Given the description of an element on the screen output the (x, y) to click on. 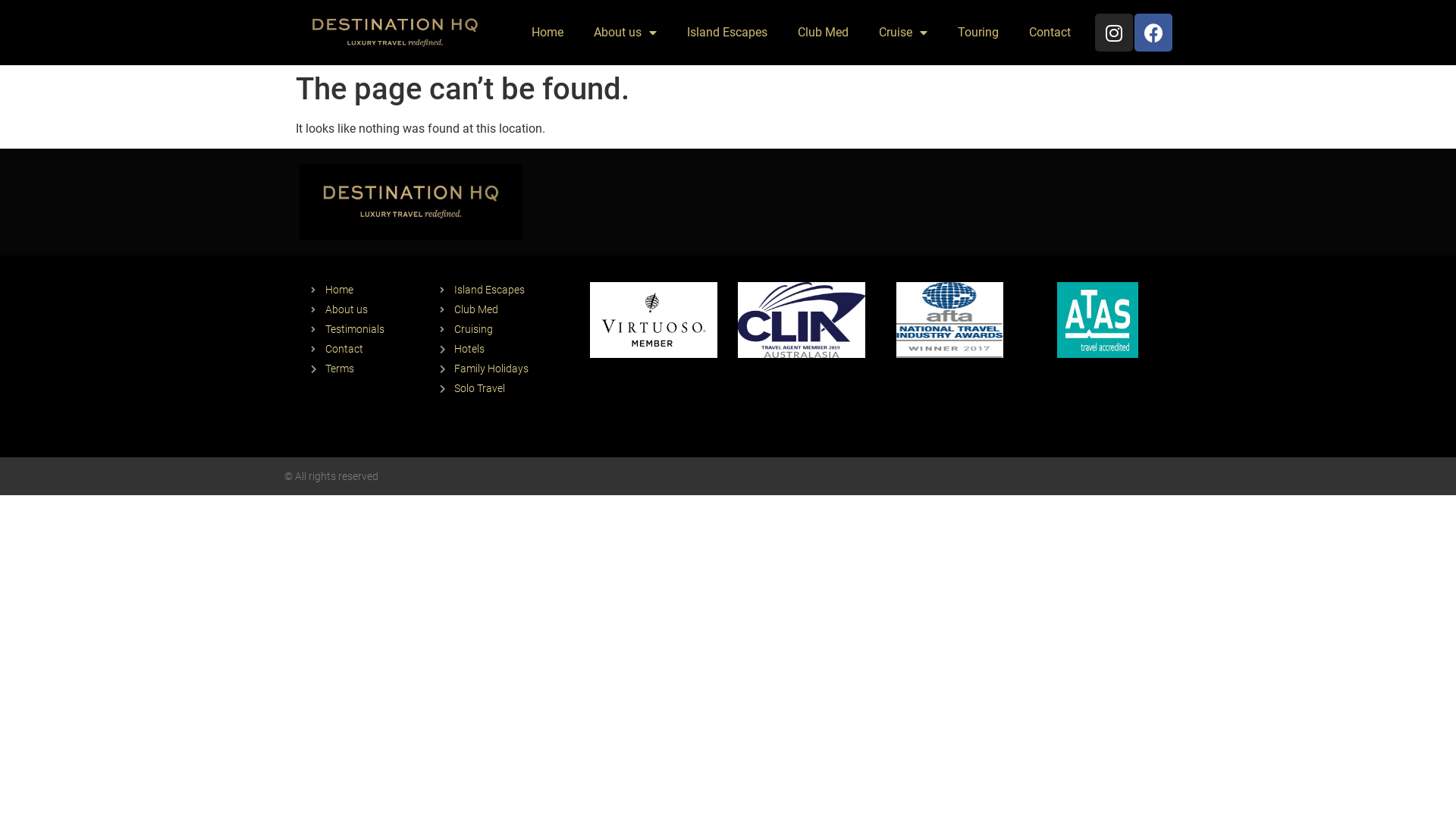
Contact Element type: text (367, 349)
Touring Element type: text (977, 32)
Solo Travel Element type: text (505, 388)
Home Element type: text (367, 290)
About us Element type: text (367, 309)
Cruise Element type: text (902, 32)
Cruising Element type: text (505, 329)
Home Element type: text (547, 32)
Terms Element type: text (367, 368)
Hotels Element type: text (505, 349)
About us Element type: text (624, 32)
Island Escapes Element type: text (726, 32)
Club Med Element type: text (822, 32)
Contact Element type: text (1049, 32)
Island Escapes Element type: text (505, 290)
Family Holidays Element type: text (505, 368)
Testimonials Element type: text (367, 329)
Club Med Element type: text (505, 309)
